Given the description of an element on the screen output the (x, y) to click on. 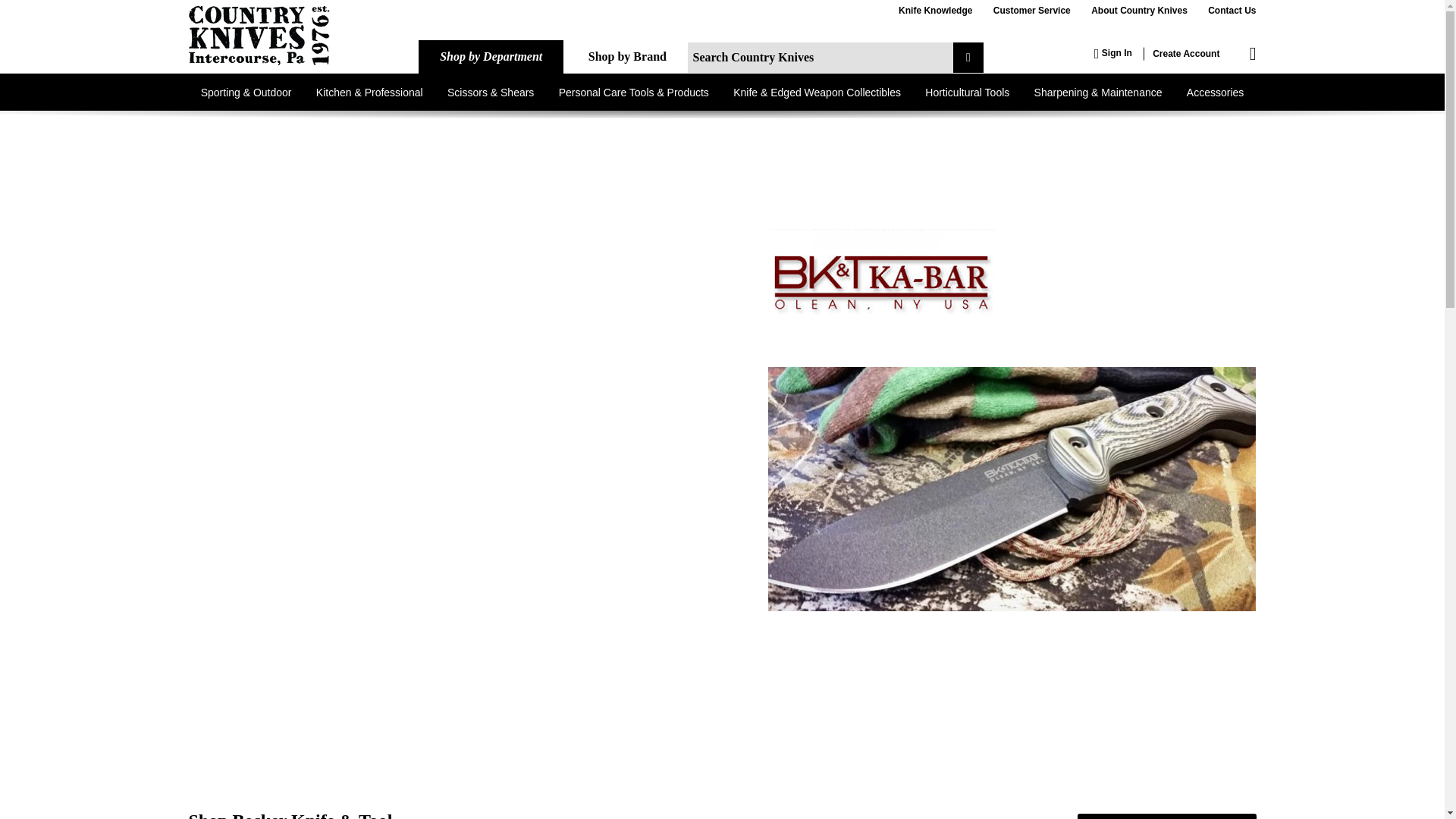
Accessories (1215, 91)
Horticultural Tools (967, 91)
Contact Us (1231, 10)
Customer Service (1031, 10)
Create Account (1186, 53)
Sign In (1113, 53)
Knife Knowledge (935, 10)
Shop by Brand (627, 56)
About Country Knives (1139, 10)
Shop by Department (491, 56)
